Given the description of an element on the screen output the (x, y) to click on. 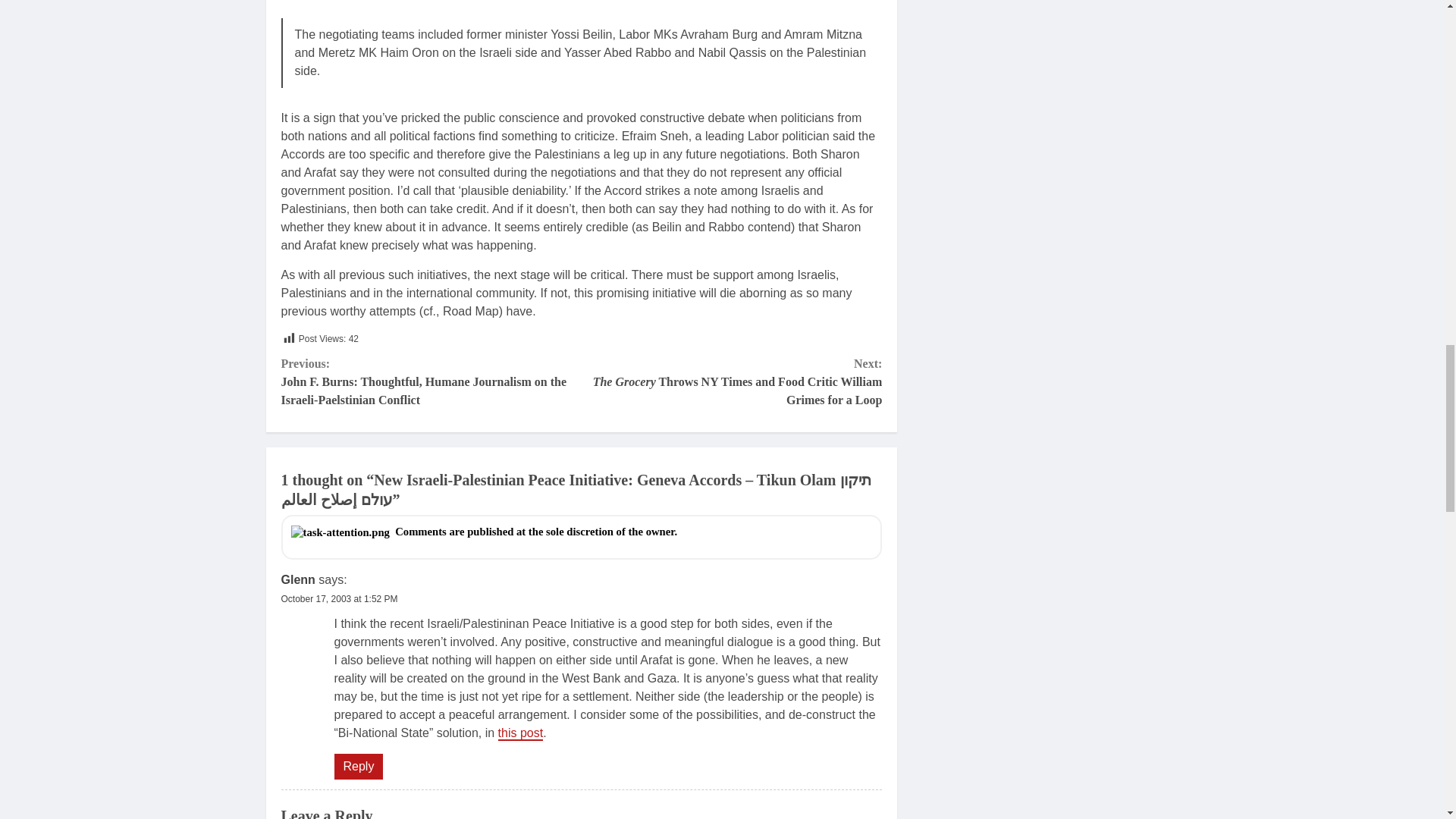
Glenn (297, 579)
this post (520, 733)
Reply (357, 766)
October 17, 2003 at 1:52 PM (339, 598)
